Given the description of an element on the screen output the (x, y) to click on. 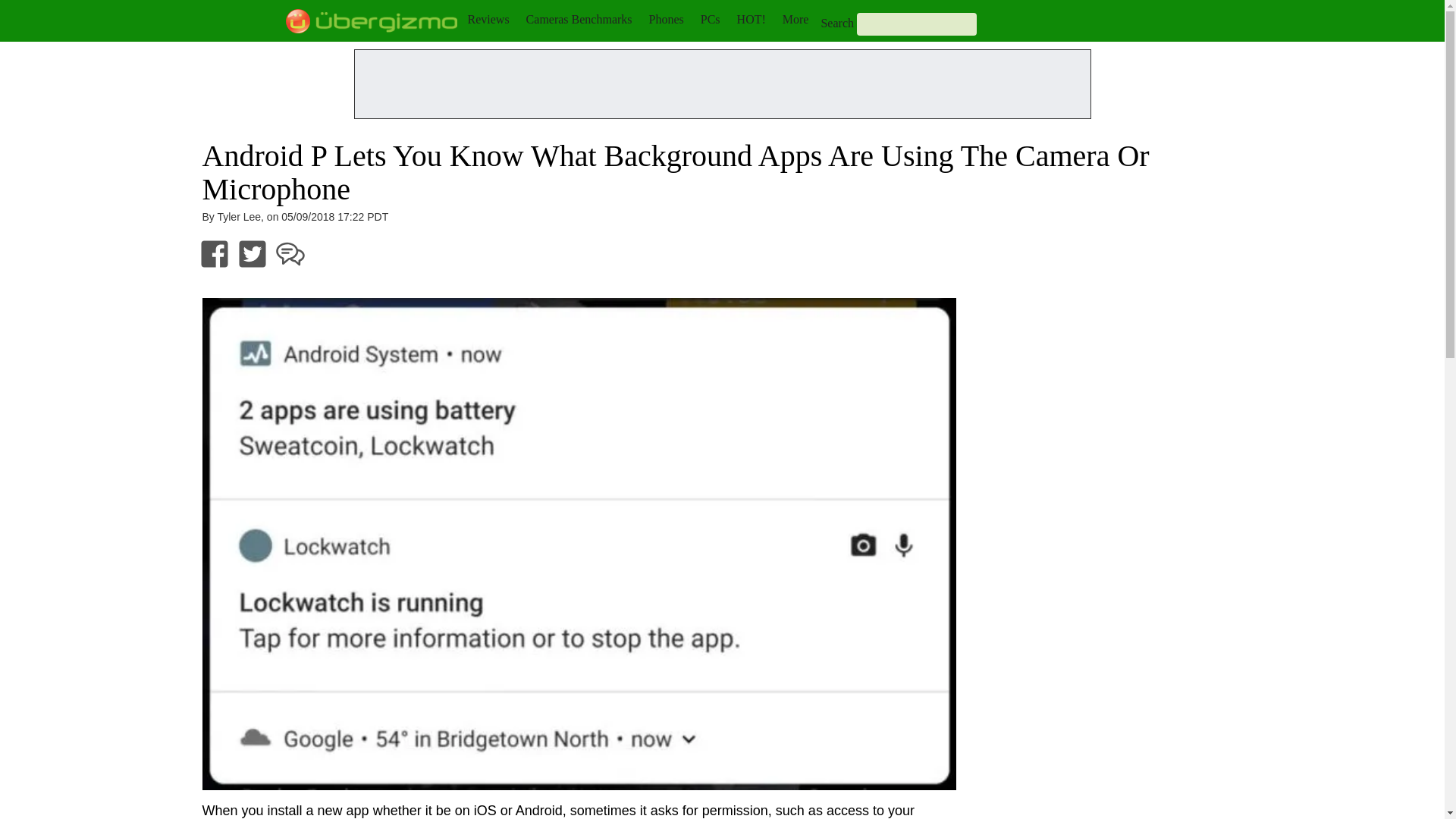
Phones (666, 19)
Cameras Benchmarks (578, 19)
PCs (710, 19)
Reviews (487, 19)
